Given the description of an element on the screen output the (x, y) to click on. 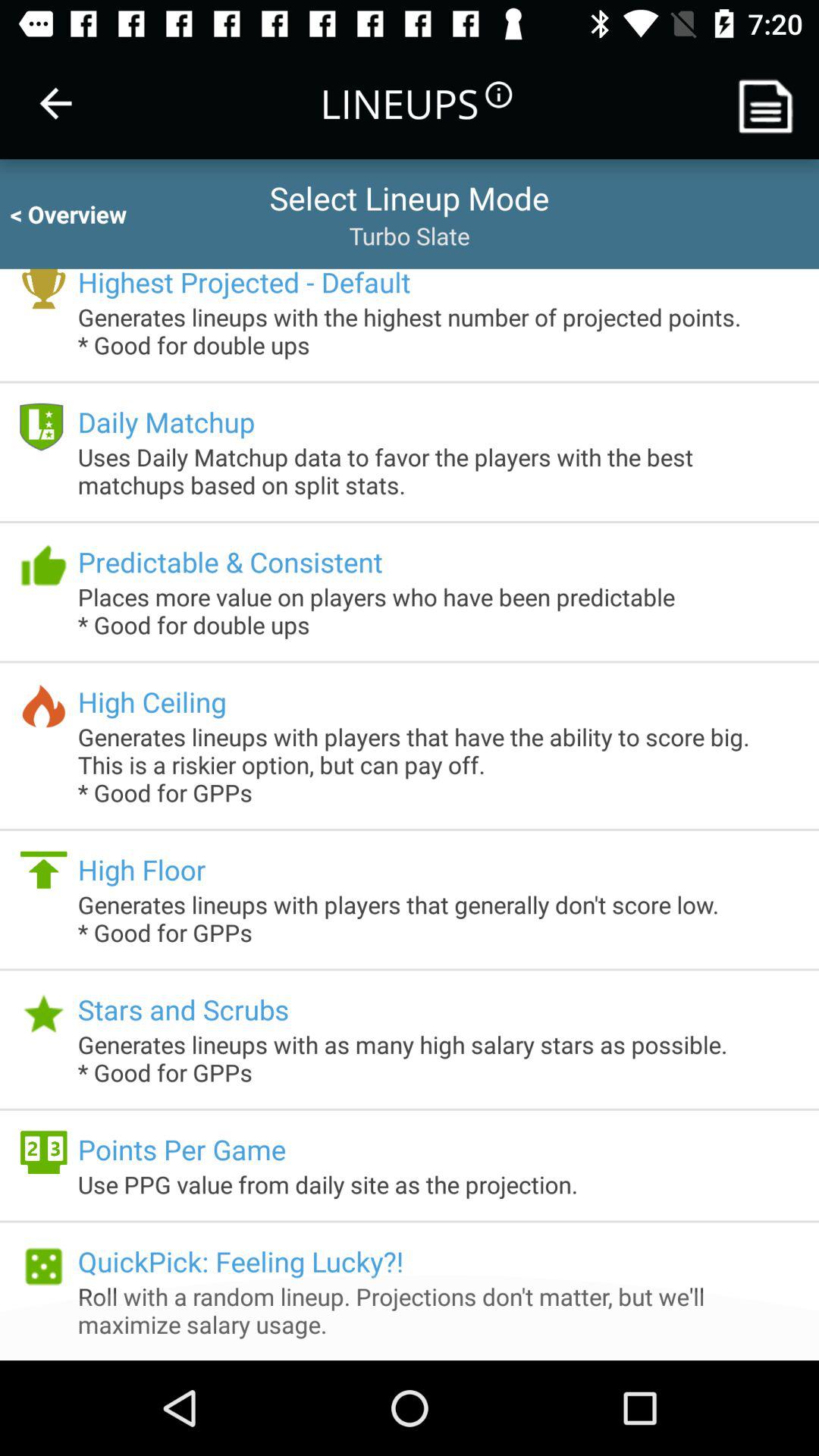
select the item next to the select lineup mode item (81, 214)
